Given the description of an element on the screen output the (x, y) to click on. 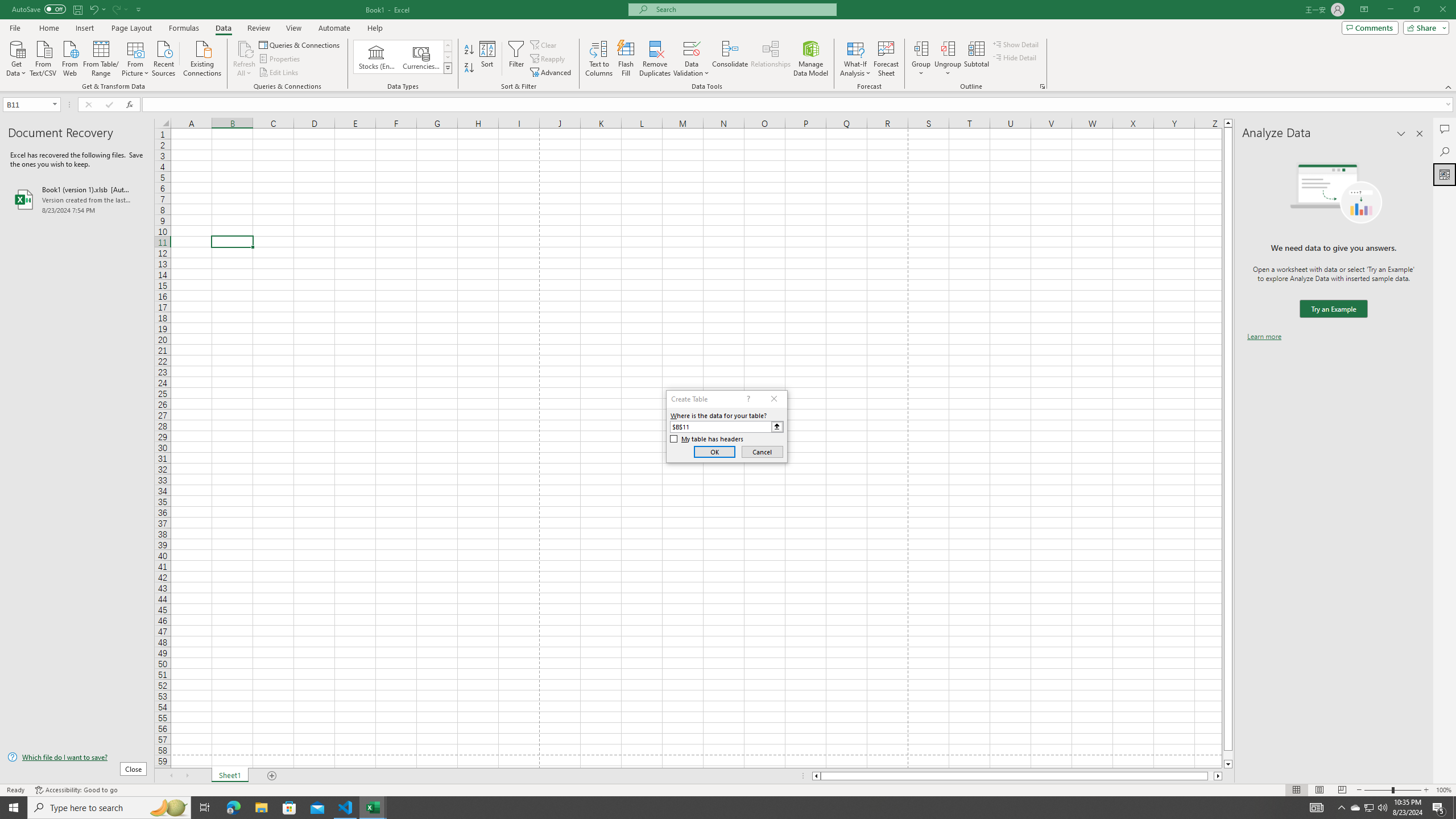
Row up (448, 45)
Formulas (184, 28)
Undo (92, 9)
Collapse the Ribbon (1448, 86)
Queries & Connections (300, 44)
Consolidate... (729, 58)
Open (54, 104)
Customize Quick Access Toolbar (139, 9)
Subtotal (976, 58)
Line down (1228, 764)
Clear (544, 44)
Sheet1 (229, 775)
Analyze Data (1444, 173)
Existing Connections (202, 57)
